Given the description of an element on the screen output the (x, y) to click on. 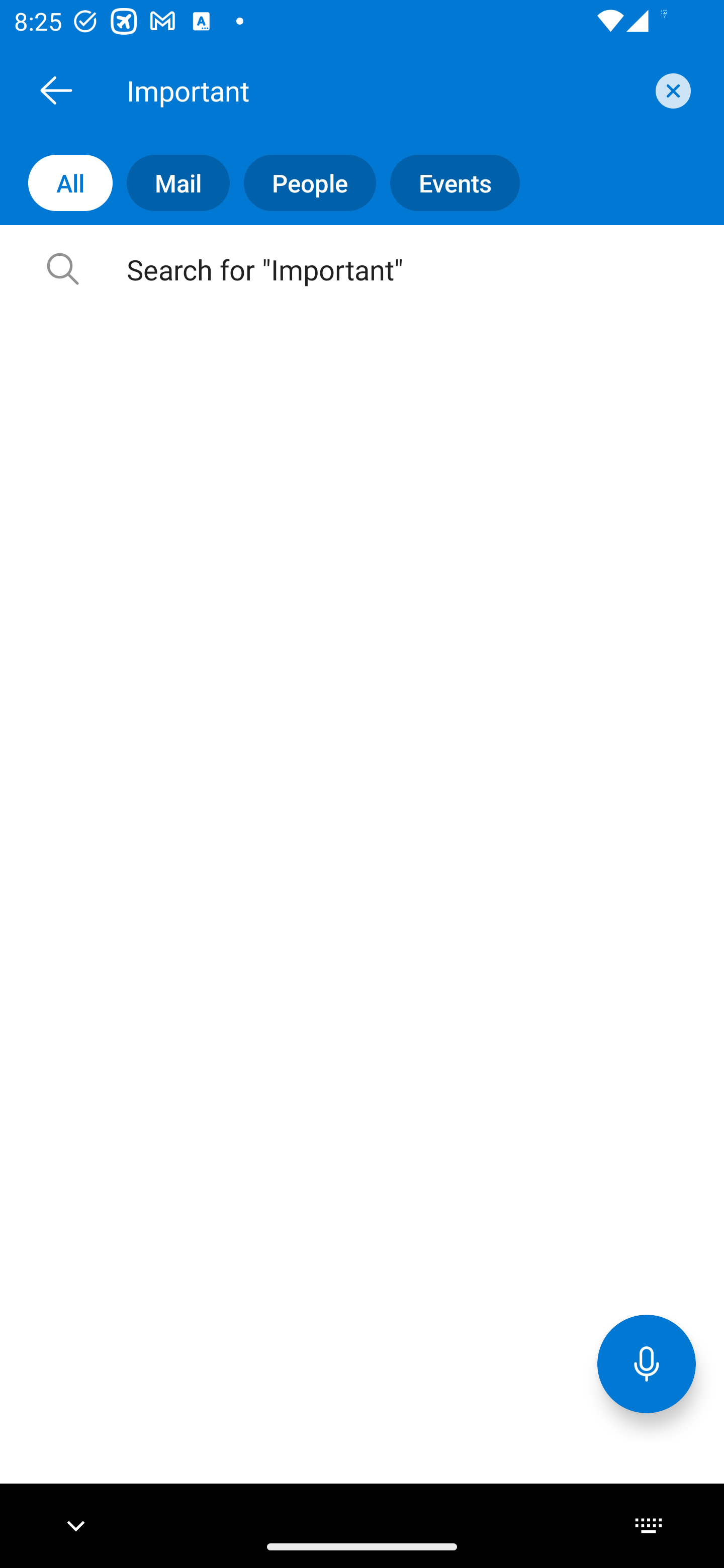
Back (55, 89)
Important (384, 89)
clear search (670, 90)
Mail (170, 183)
People (302, 183)
Events (447, 183)
Voice Assistant (646, 1362)
